Given the description of an element on the screen output the (x, y) to click on. 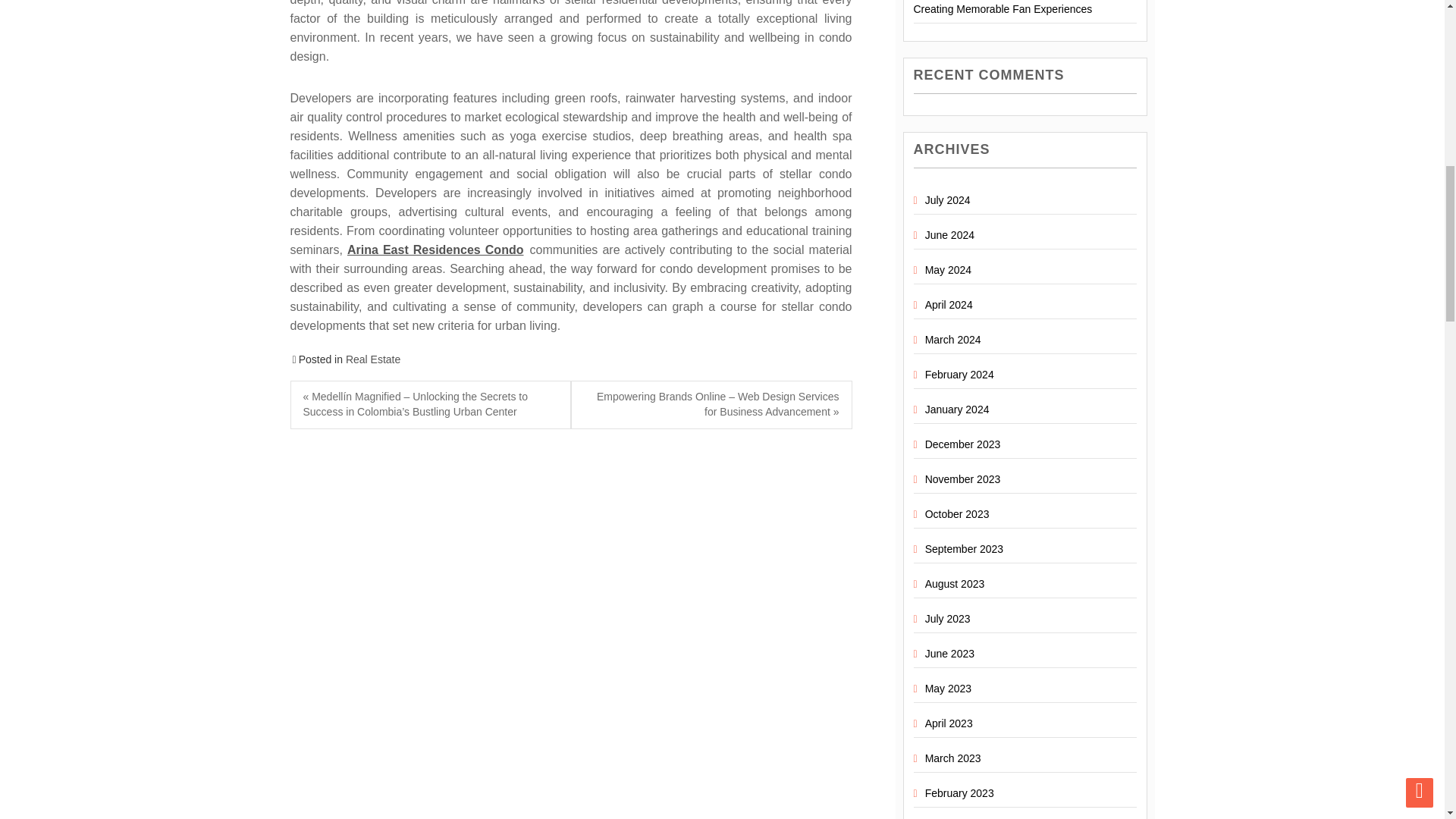
May 2024 (947, 269)
November 2023 (962, 479)
April 2024 (948, 304)
September 2023 (964, 548)
August 2023 (954, 583)
October 2023 (957, 513)
February 2024 (959, 374)
January 2024 (957, 409)
December 2023 (962, 444)
March 2023 (952, 758)
Real Estate (373, 358)
April 2023 (948, 723)
March 2024 (952, 339)
June 2024 (949, 234)
February 2023 (959, 793)
